Given the description of an element on the screen output the (x, y) to click on. 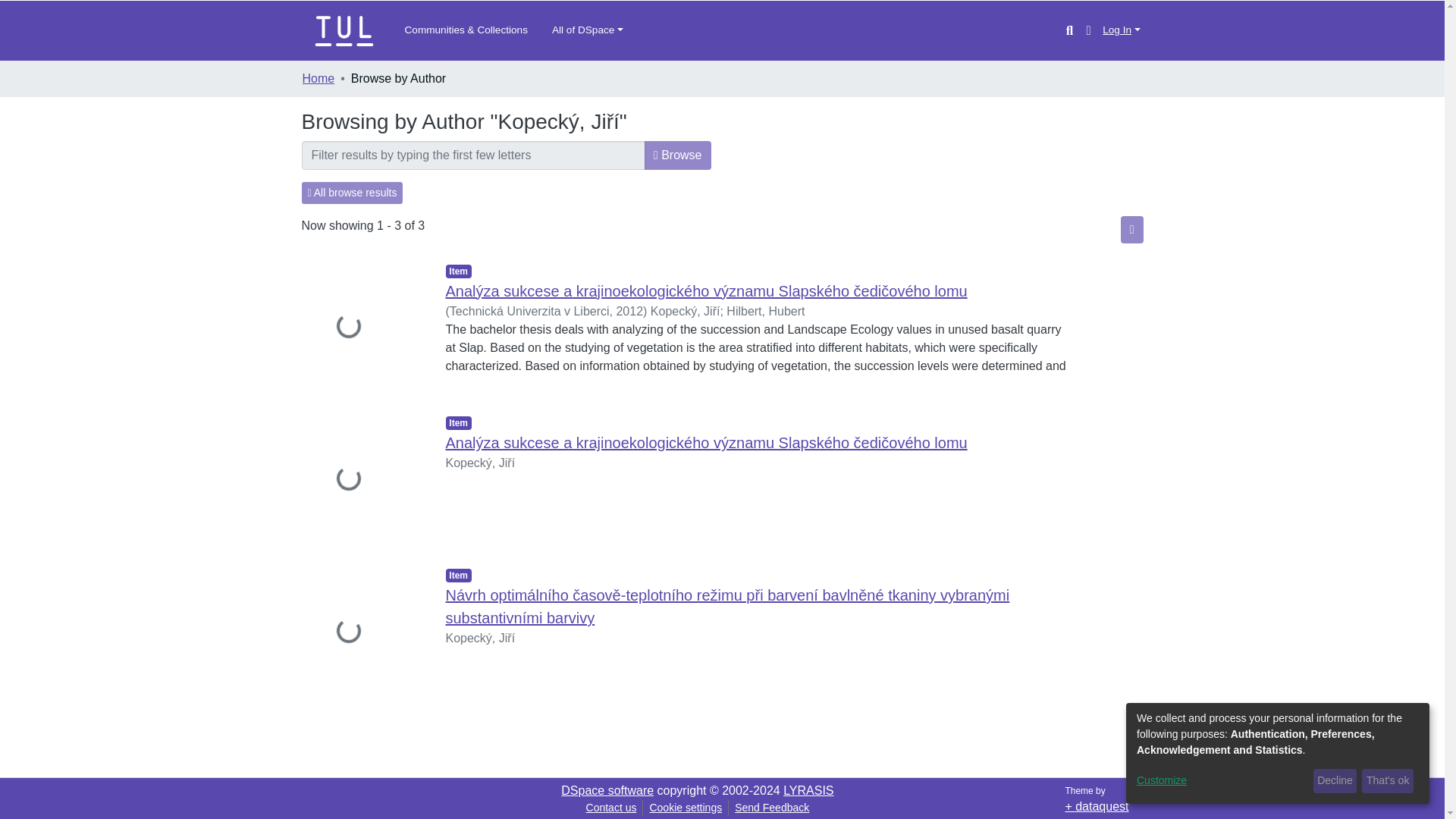
All browse results (352, 192)
Browse (678, 154)
Loading... (362, 480)
Search (1069, 29)
All of DSpace (587, 29)
Log In (1120, 30)
Loading... (362, 328)
Language switch (1088, 29)
dataquest s.r.o. (1096, 806)
Home (317, 78)
